Given the description of an element on the screen output the (x, y) to click on. 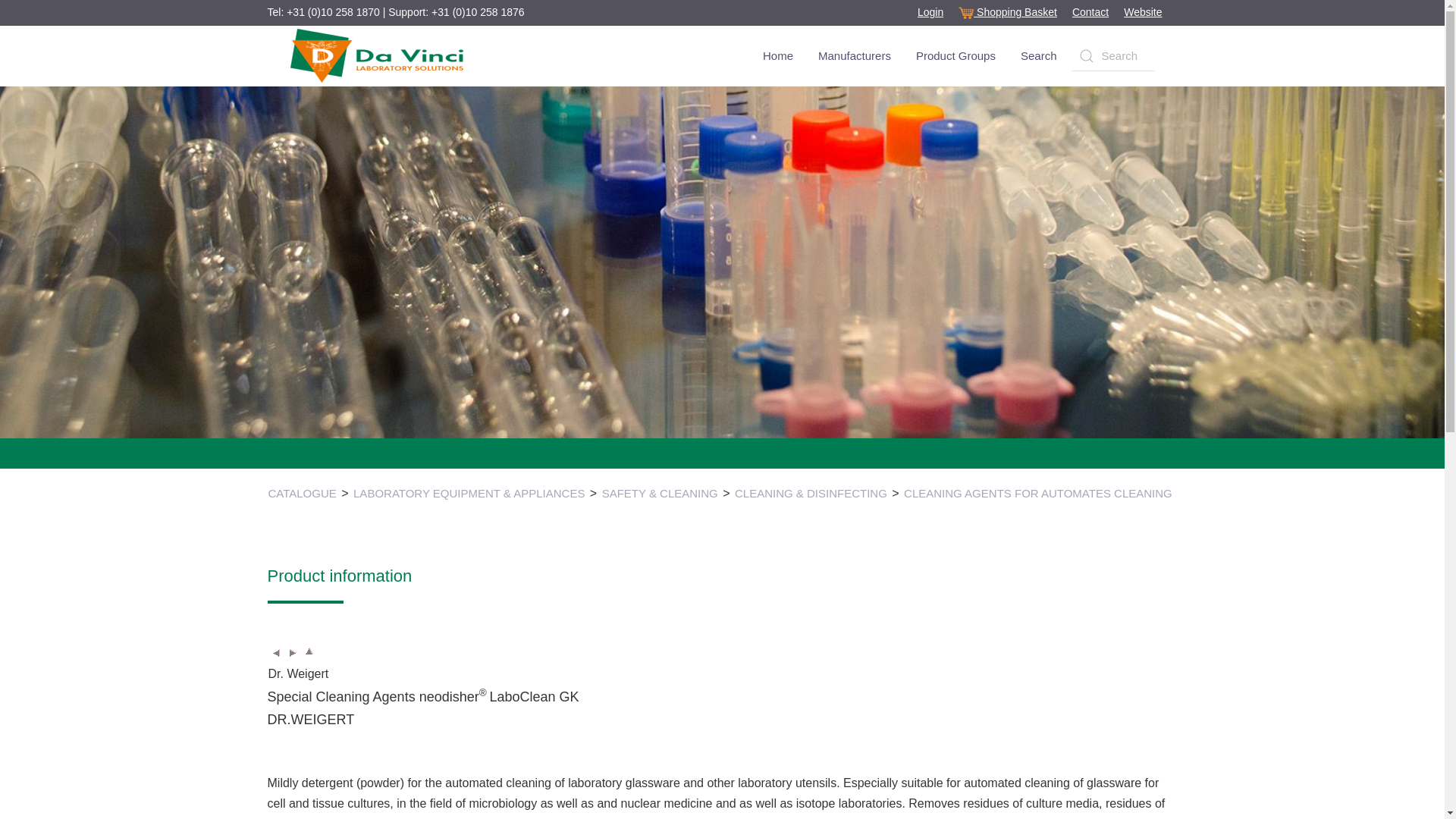
Basket (1007, 11)
Product Groups (955, 55)
CATALOGUE (301, 493)
Login (930, 11)
Contact (1089, 11)
Manufacturers (854, 55)
CLEANING AGENTS FOR AUTOMATES CLEANING (1038, 493)
Producten (1038, 55)
Shopping Basket (1007, 11)
Login (930, 11)
Hoofdkantoor (1089, 11)
Manufacturers (854, 55)
Search (1038, 55)
Website (1142, 11)
Home (777, 55)
